Given the description of an element on the screen output the (x, y) to click on. 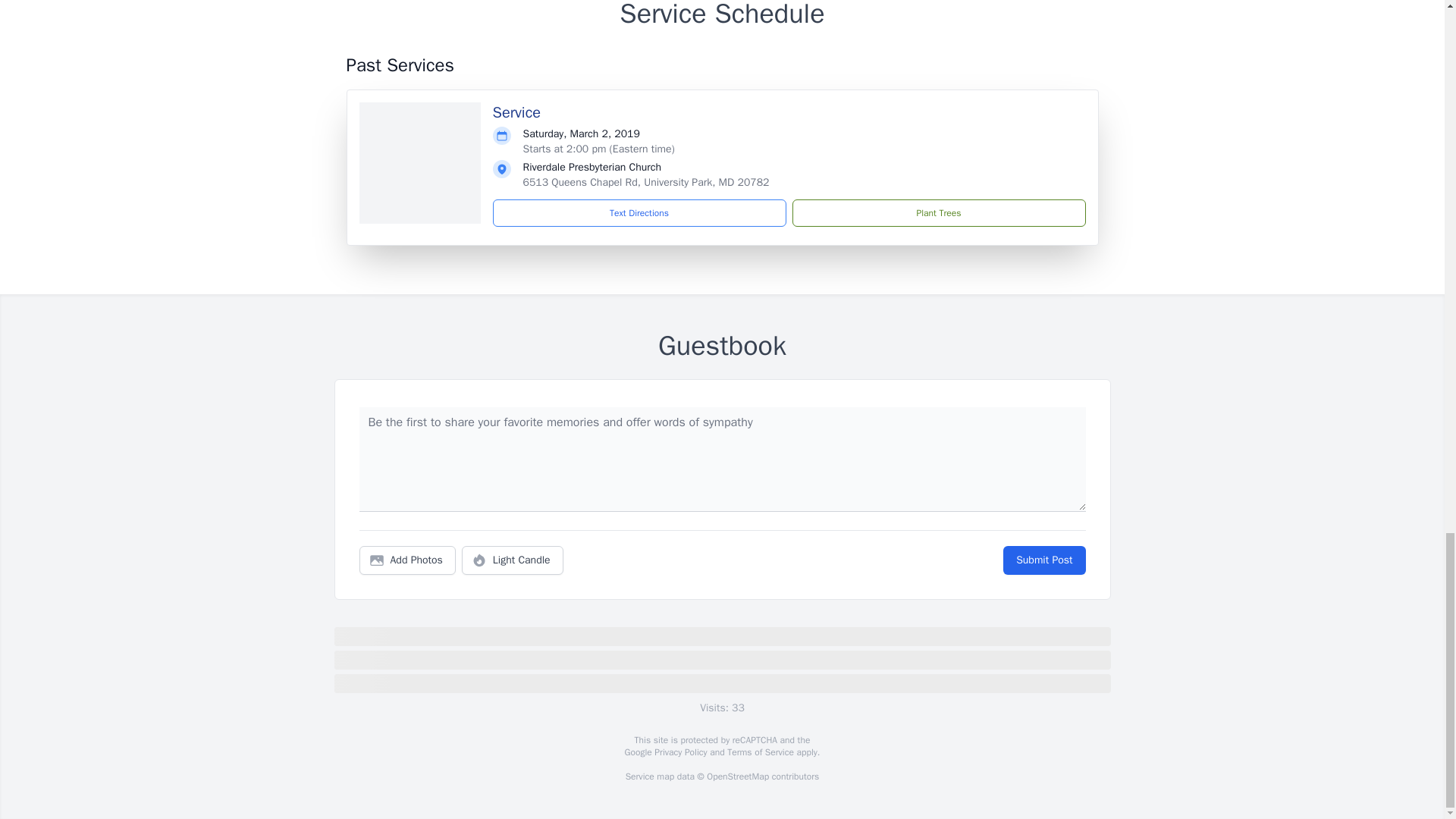
Submit Post (1043, 560)
Terms of Service (759, 752)
Add Photos (407, 560)
6513 Queens Chapel Rd, University Park, MD 20782 (646, 182)
OpenStreetMap (737, 776)
Privacy Policy (679, 752)
Light Candle (512, 560)
Text Directions (639, 212)
Plant Trees (938, 212)
